Given the description of an element on the screen output the (x, y) to click on. 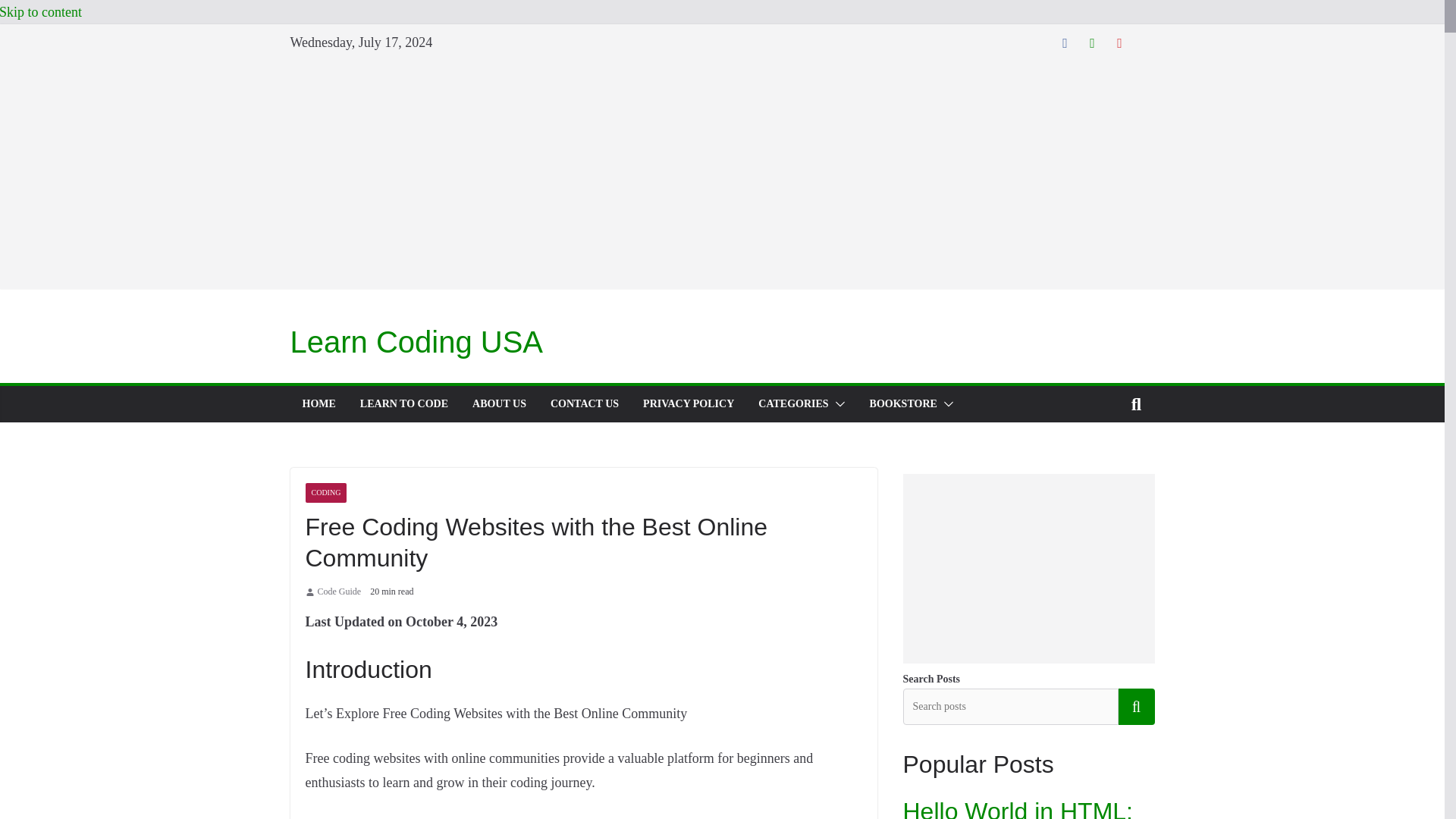
HOME (317, 403)
Pinterest (1119, 43)
PRIVACY POLICY (688, 403)
CONTACT US (584, 403)
Code Guide (339, 591)
Twitter (1091, 43)
Learn Coding USA (416, 341)
CATEGORIES (793, 403)
ABOUT US (498, 403)
BOOKSTORE (903, 403)
Code Guide (339, 591)
Skip to content (40, 11)
CODING (325, 492)
LinkedIn (1146, 43)
